Given the description of an element on the screen output the (x, y) to click on. 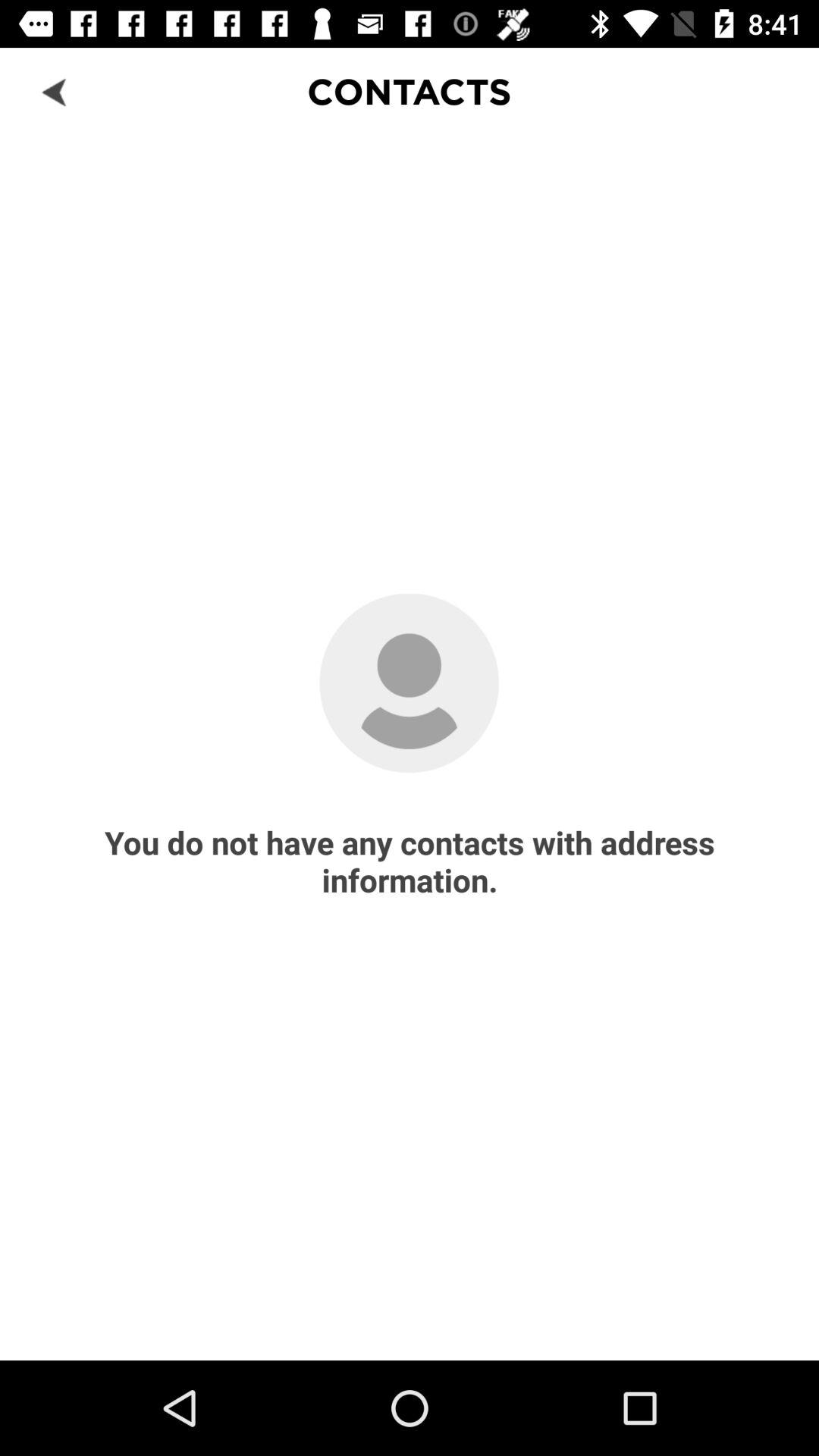
go back (55, 91)
